Given the description of an element on the screen output the (x, y) to click on. 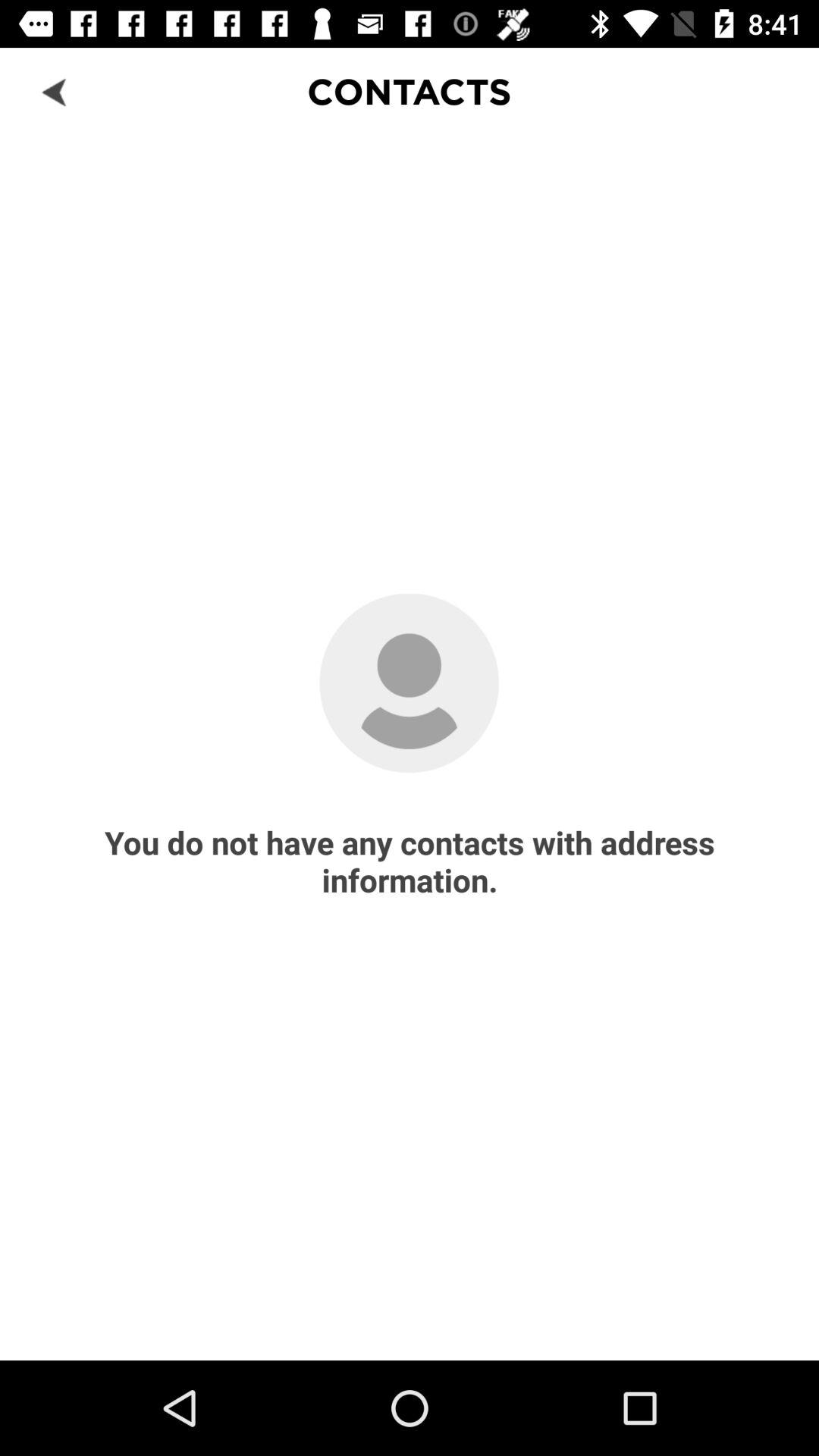
go back (55, 91)
